Given the description of an element on the screen output the (x, y) to click on. 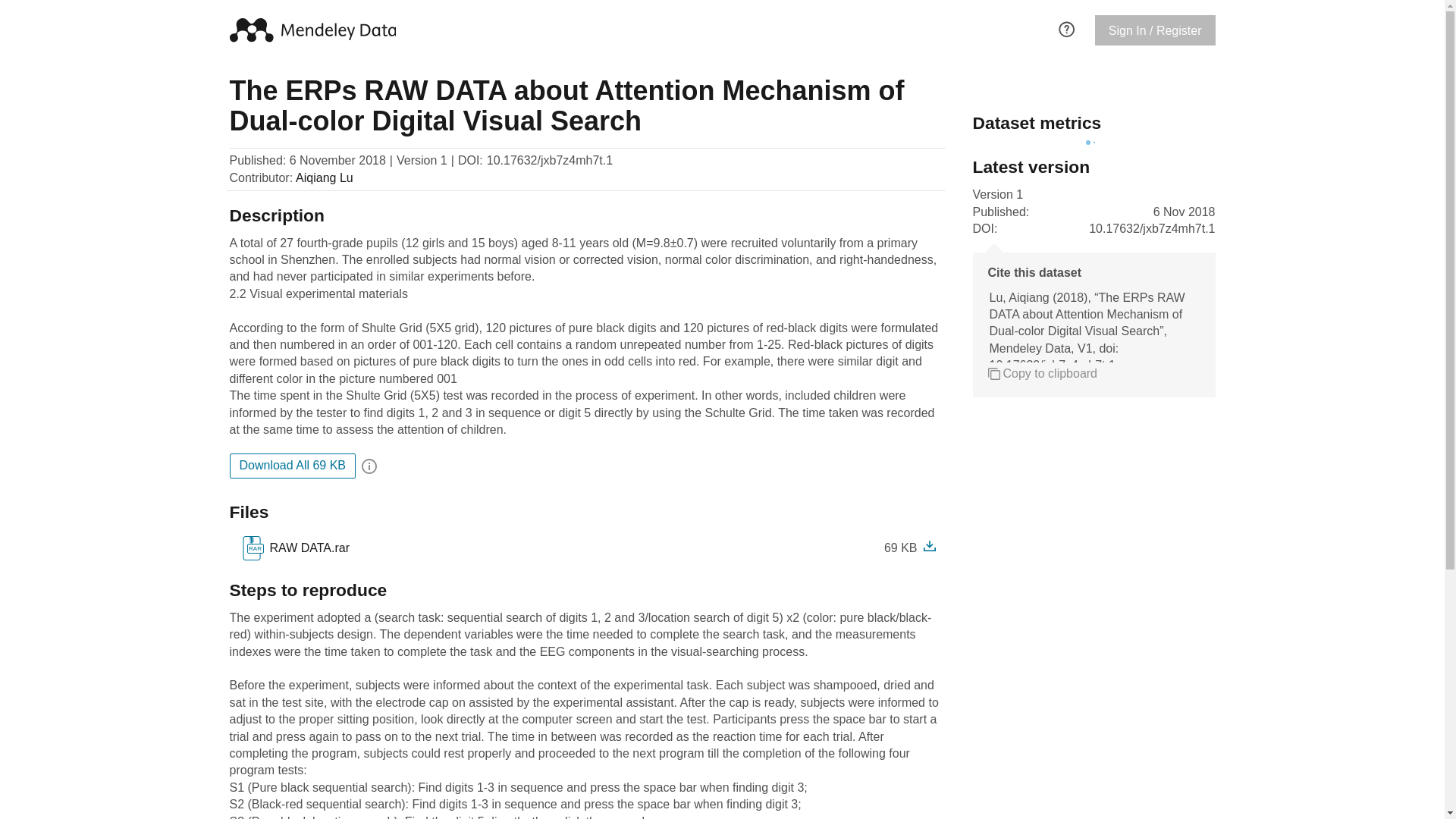
Download All 69 KB (291, 465)
RAW DATA.rar (306, 547)
FAQ (1066, 27)
Copy to clipboard (294, 548)
